Given the description of an element on the screen output the (x, y) to click on. 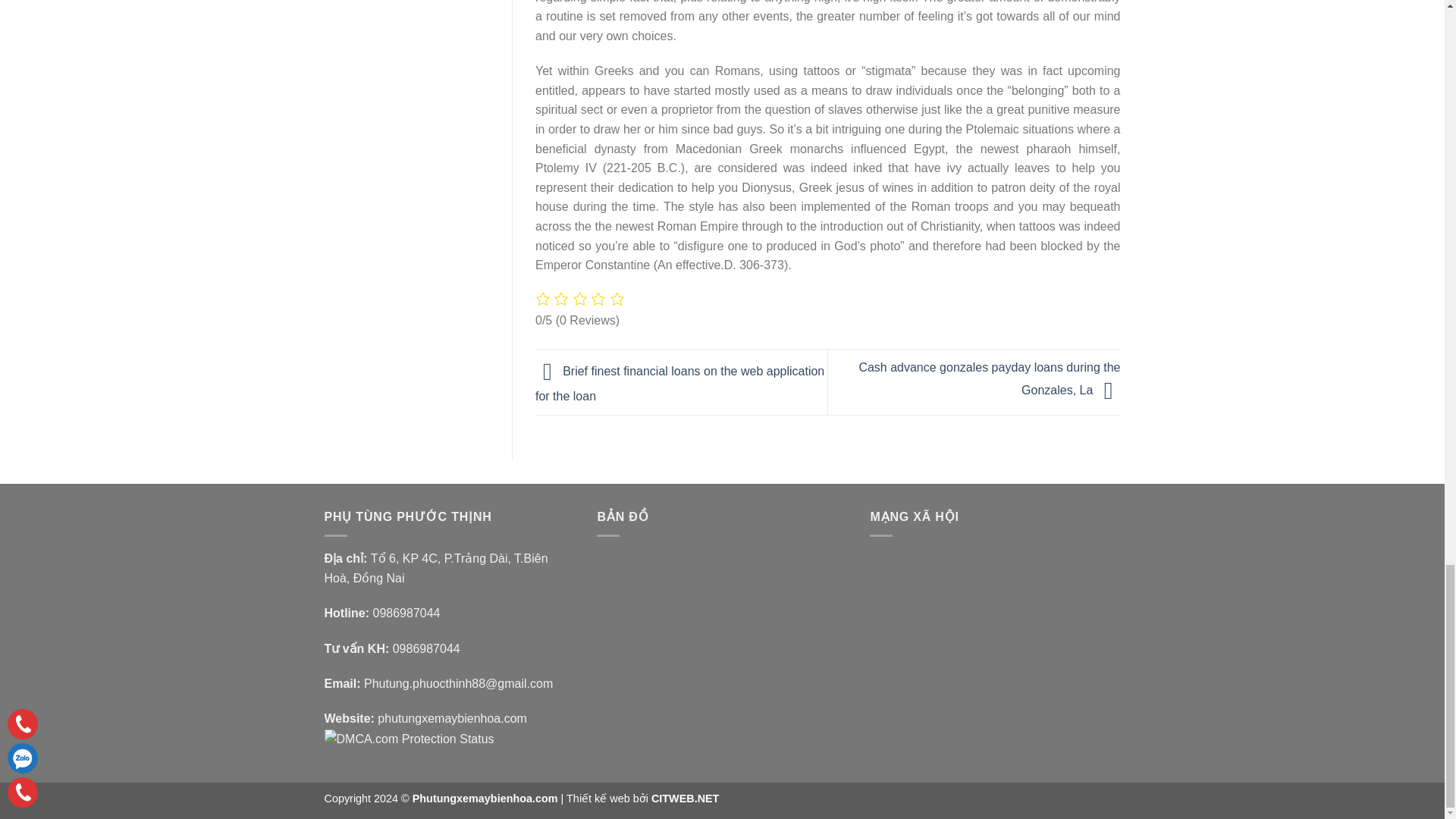
DMCA.com Protection Status (409, 738)
Cash advance gonzales payday loans during the Gonzales, La (989, 379)
